Given the description of an element on the screen output the (x, y) to click on. 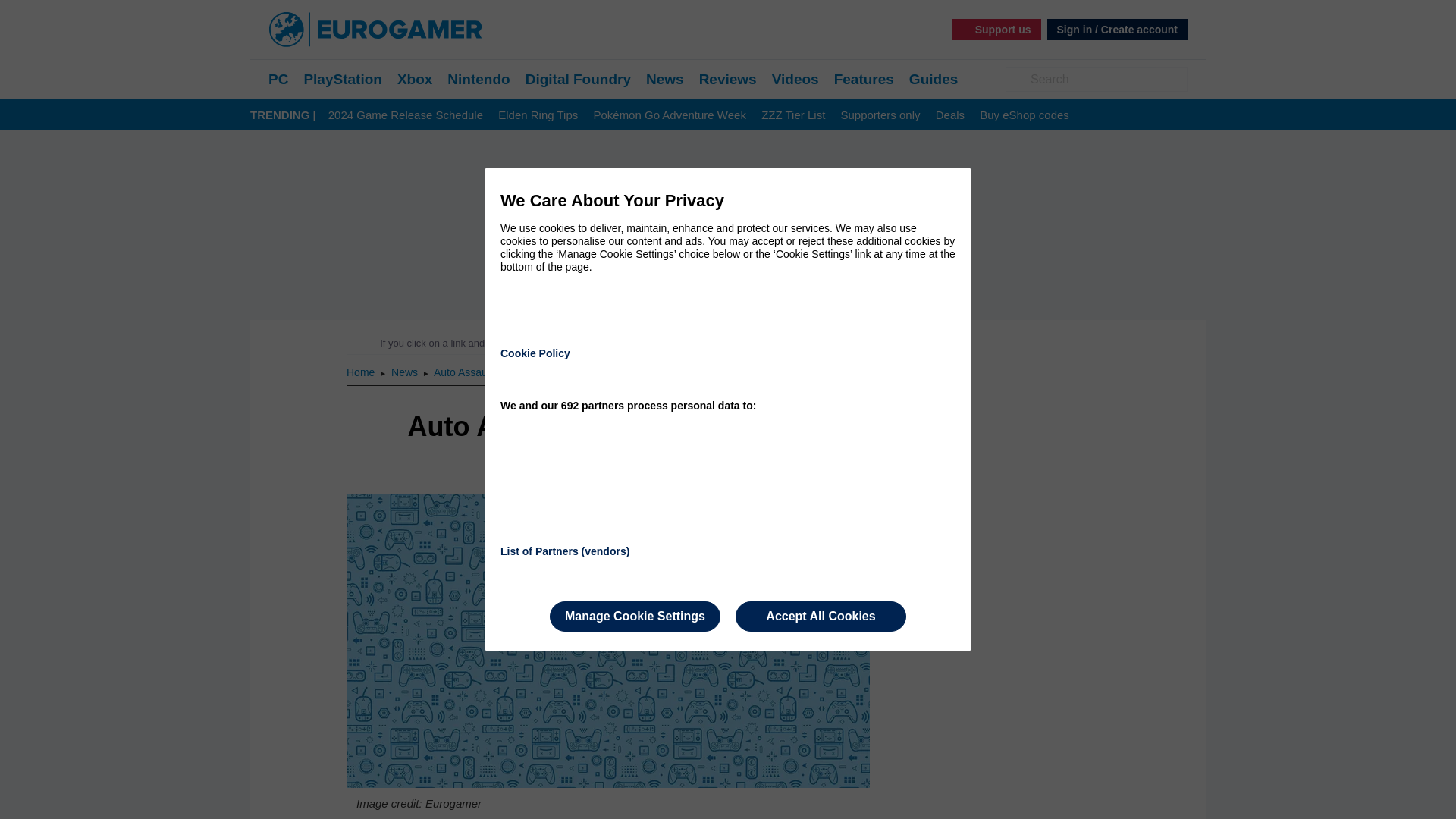
Deals (949, 114)
Guides (933, 78)
Buy eShop codes (1023, 114)
Supporters only (880, 114)
Nintendo (477, 78)
Reviews (727, 78)
2024 Game Release Schedule (406, 114)
PlayStation (341, 78)
Xbox (414, 78)
ZZZ Tier List (793, 114)
